Given the description of an element on the screen output the (x, y) to click on. 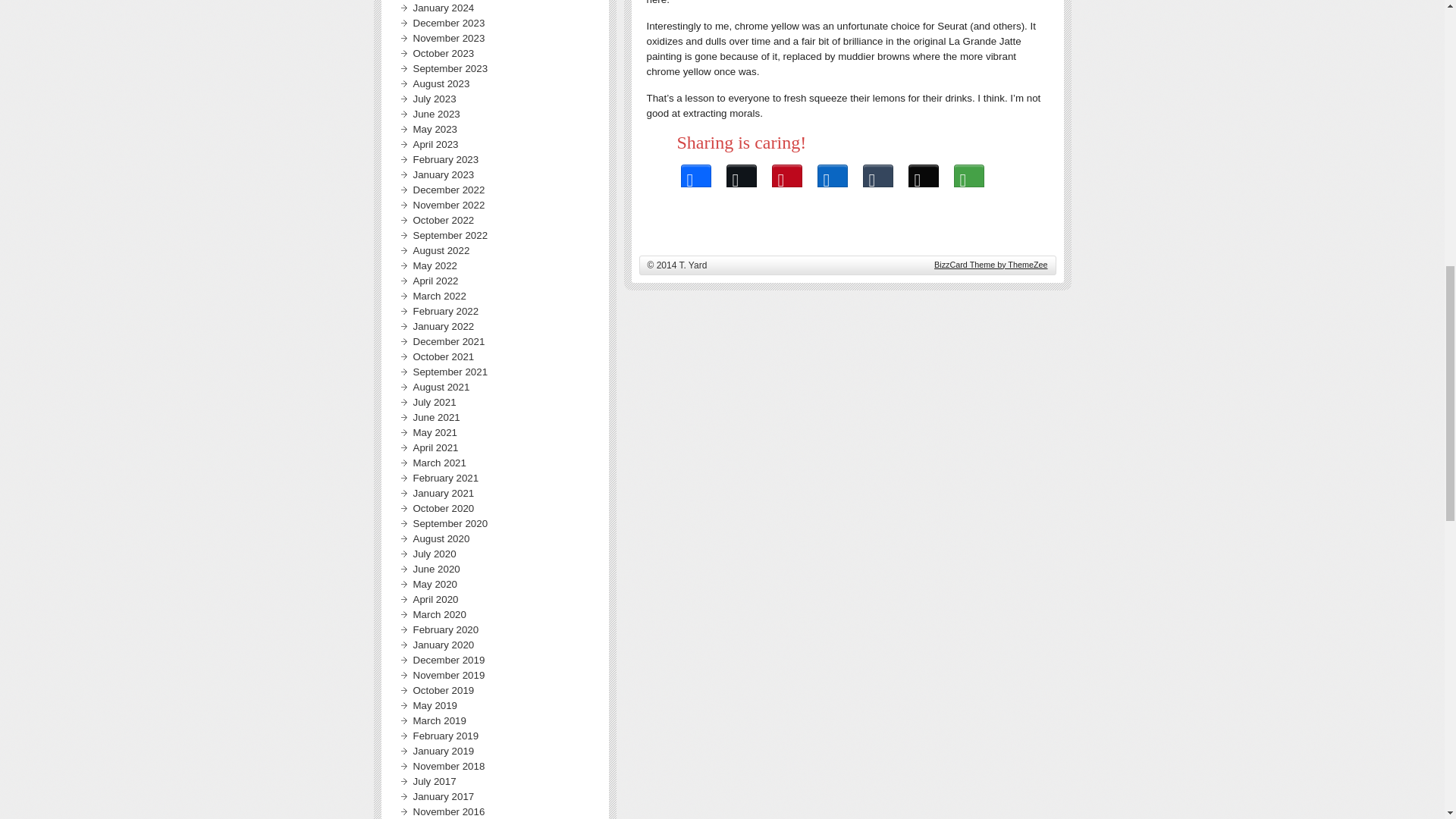
LinkedIn (832, 171)
September 2023 (449, 68)
August 2023 (440, 83)
October 2023 (443, 52)
Digg (923, 171)
BizzCard Theme by ThemeZee (990, 264)
More Options (968, 171)
Pinterest (786, 171)
November 2023 (448, 38)
Tumblr (878, 171)
May 2023 (434, 129)
January 2024 (443, 7)
Facebook (695, 171)
July 2023 (433, 98)
June 2023 (436, 113)
